Given the description of an element on the screen output the (x, y) to click on. 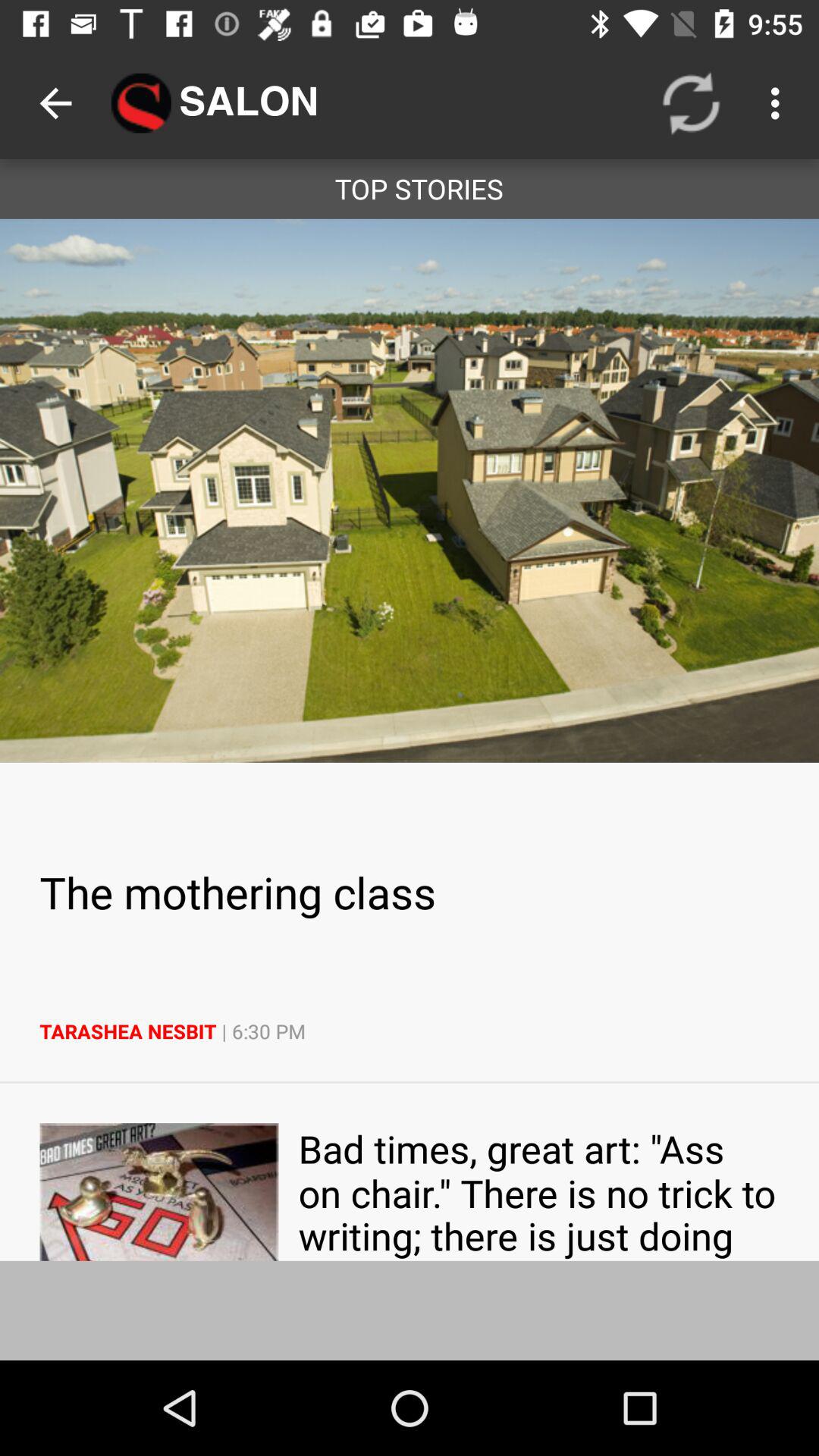
click the app to the right of the salon icon (691, 103)
